Given the description of an element on the screen output the (x, y) to click on. 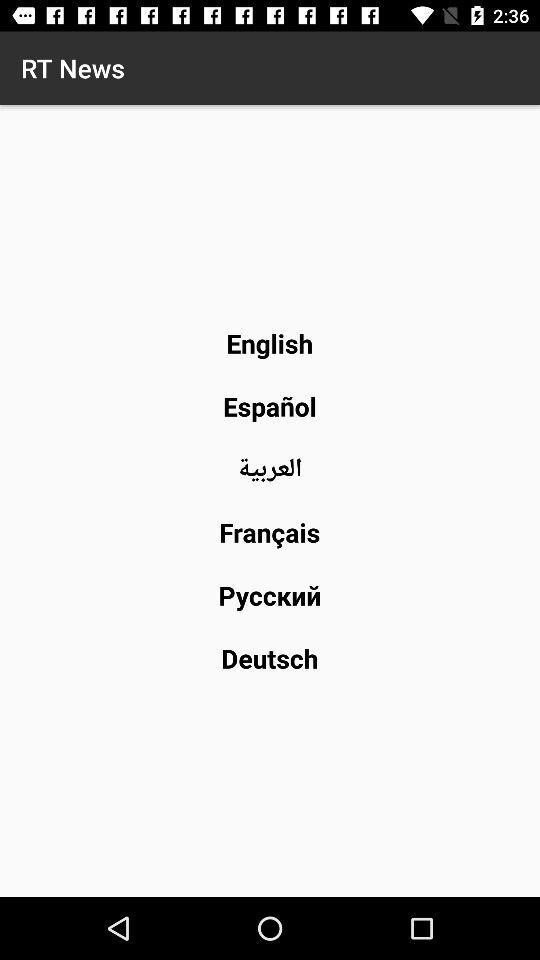
tap the deutsch item (269, 658)
